Given the description of an element on the screen output the (x, y) to click on. 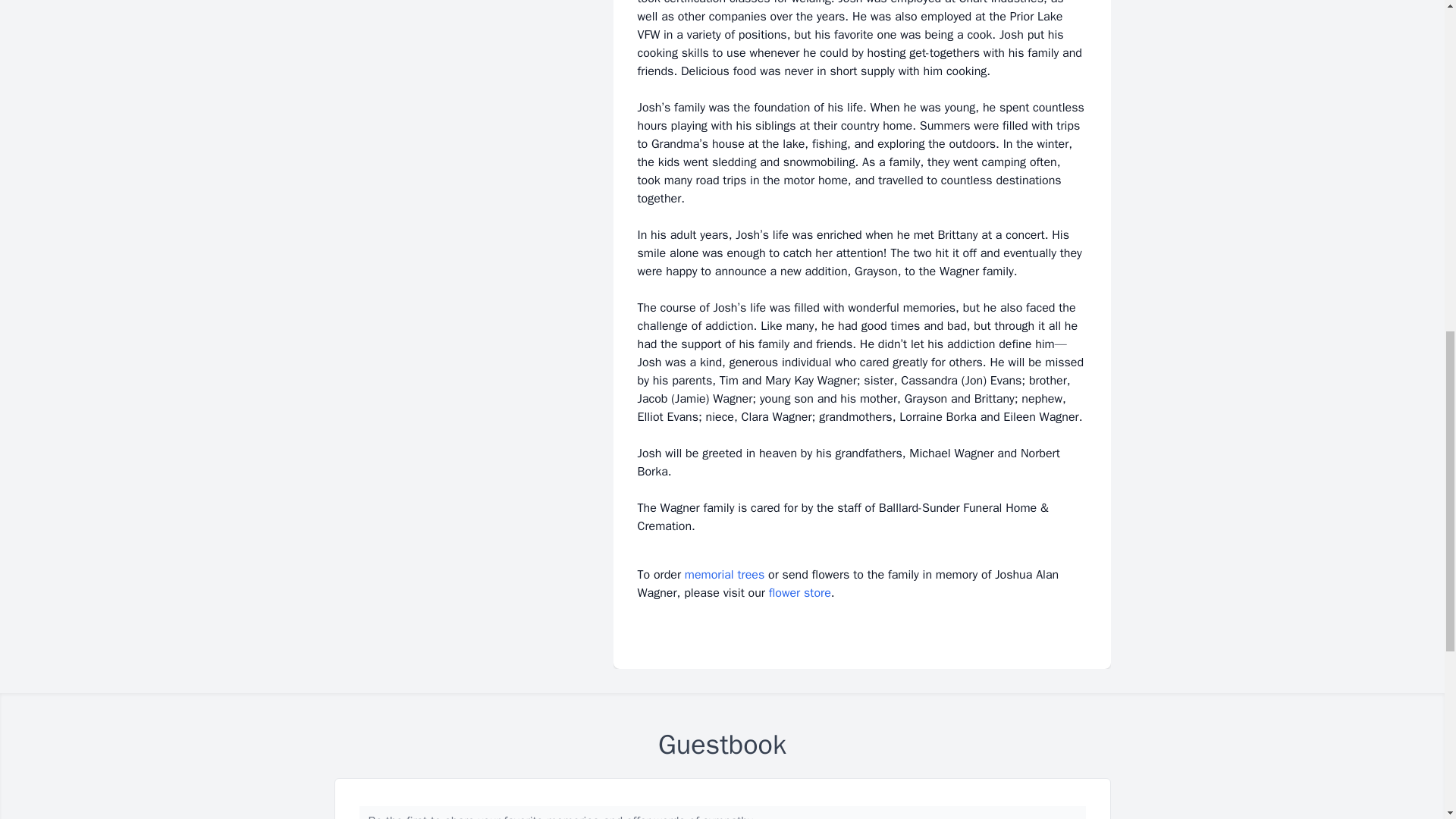
flower store (799, 592)
memorial trees (724, 574)
